Given the description of an element on the screen output the (x, y) to click on. 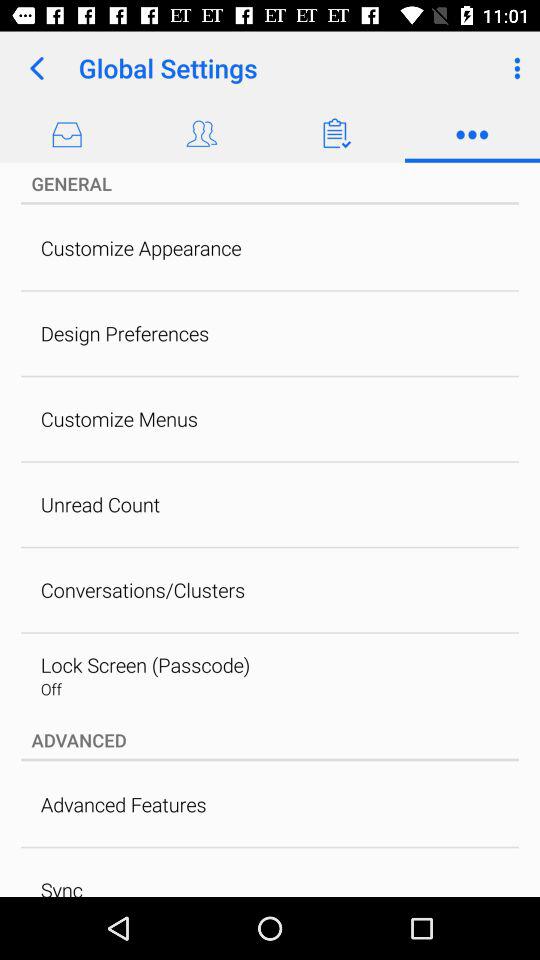
swipe to general icon (270, 183)
